Given the description of an element on the screen output the (x, y) to click on. 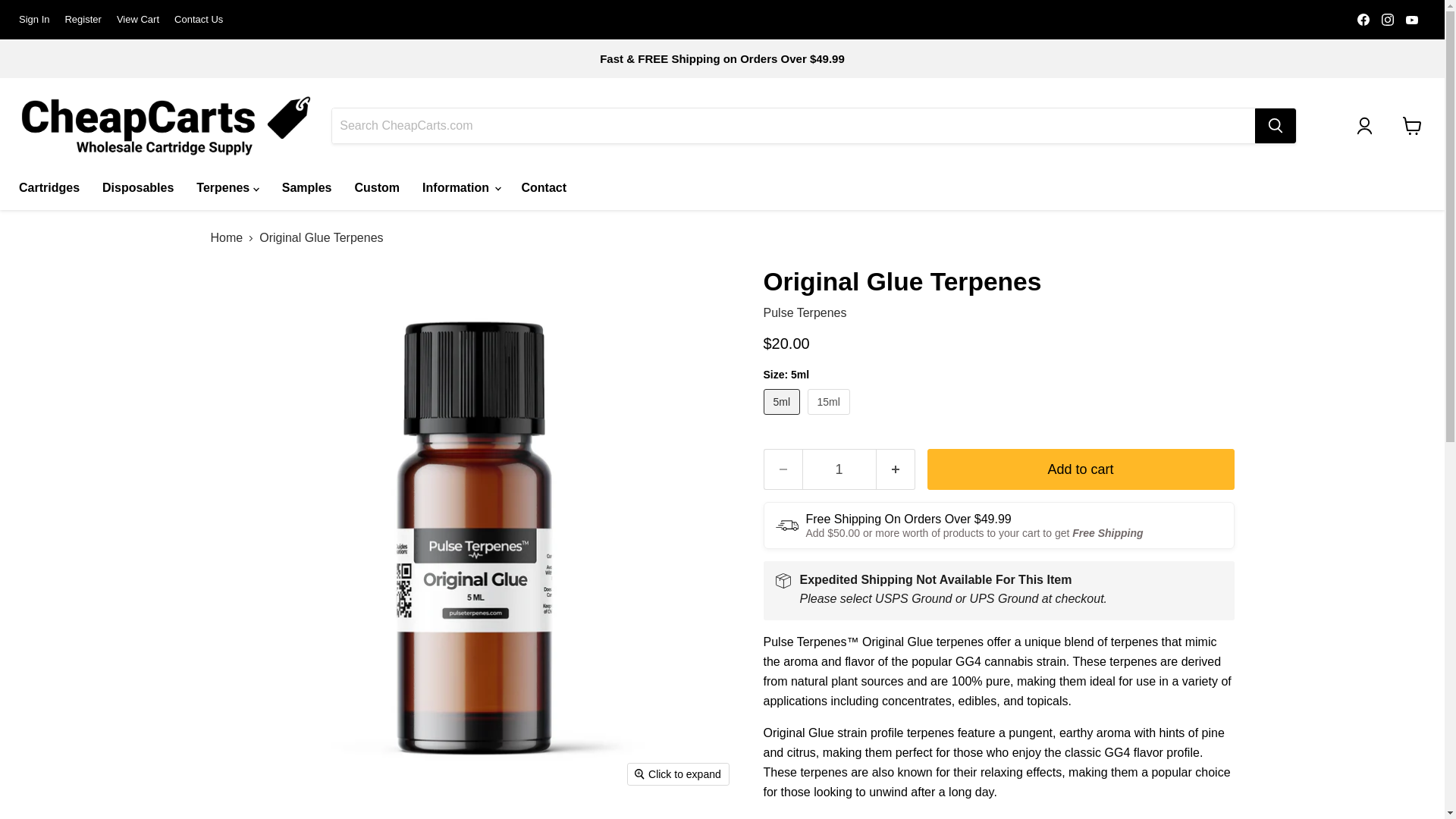
Sign In (33, 19)
Cartridges (48, 187)
Pulse Terpenes (803, 312)
Disposables (137, 187)
YouTube (1411, 19)
View Cart (137, 19)
View cart (1411, 125)
Find us on Facebook (1363, 19)
Contact Us (198, 19)
Find us on Instagram (1387, 19)
